Given the description of an element on the screen output the (x, y) to click on. 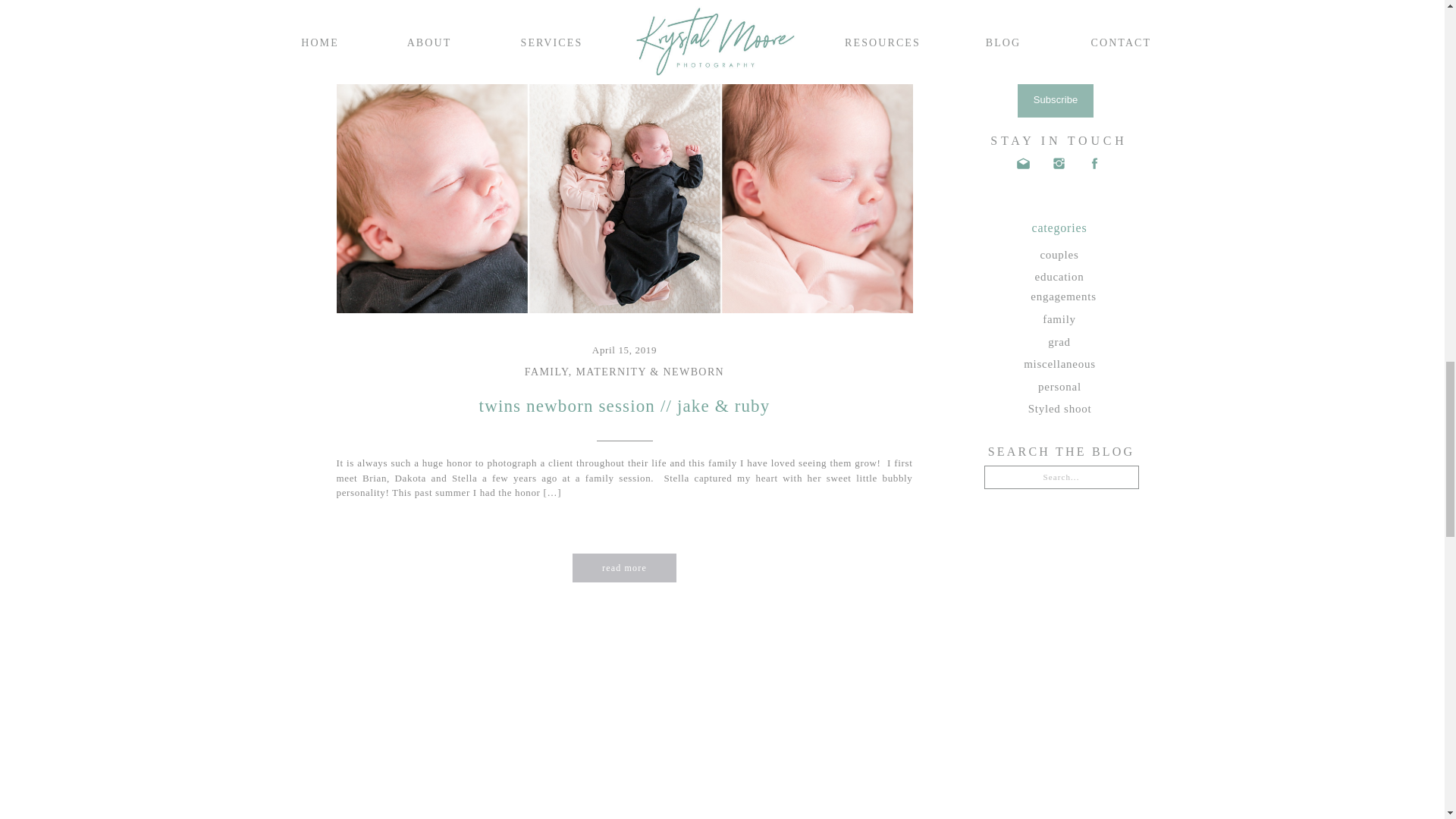
family (1059, 318)
Styled shoot (1059, 407)
miscellaneous (1059, 362)
personal (1058, 385)
grad (1059, 340)
education (1058, 275)
engagements (1063, 295)
